Given the description of an element on the screen output the (x, y) to click on. 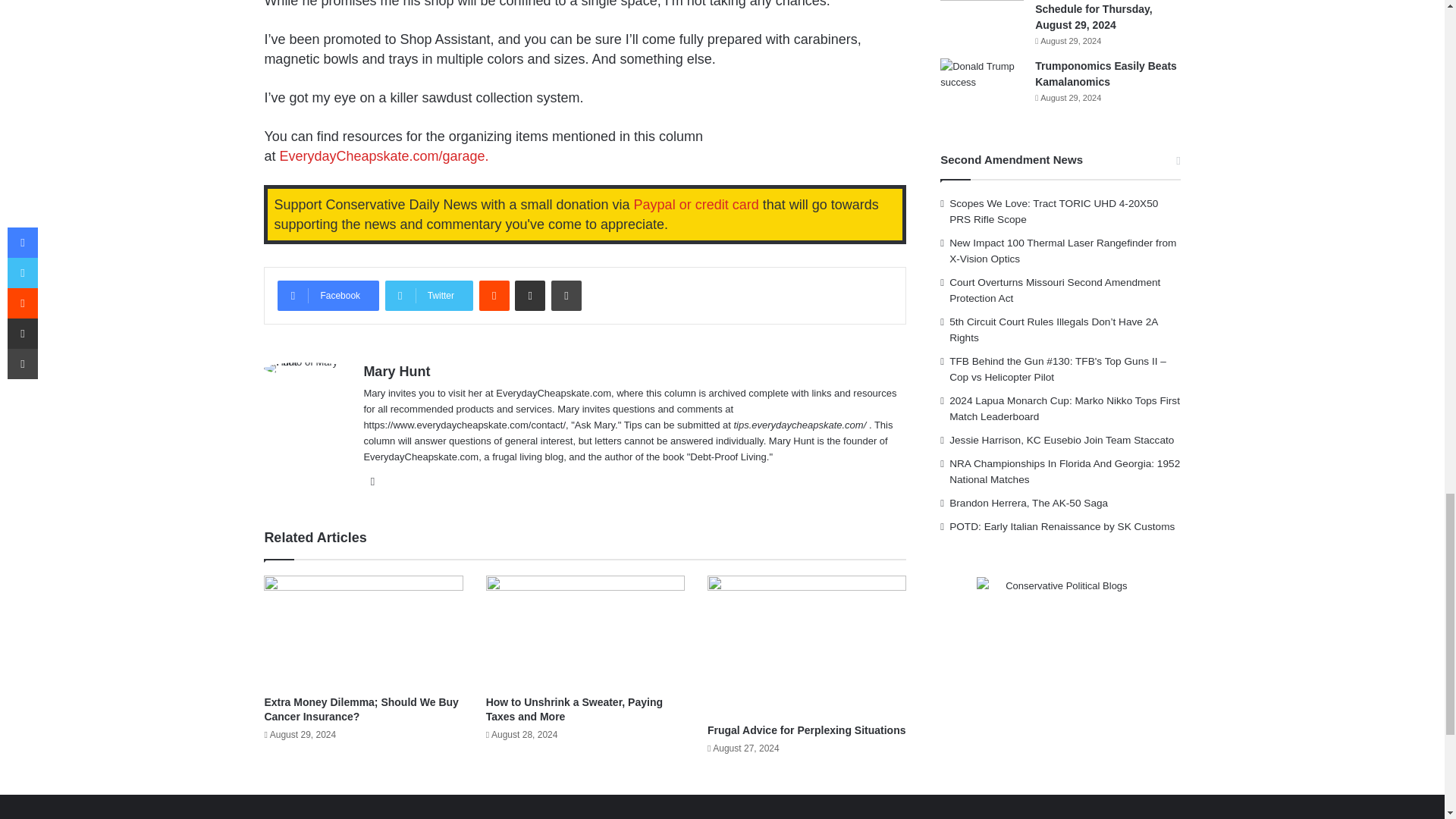
Reddit (494, 295)
Twitter (429, 295)
Share via Email (529, 295)
Facebook (328, 295)
